Given the description of an element on the screen output the (x, y) to click on. 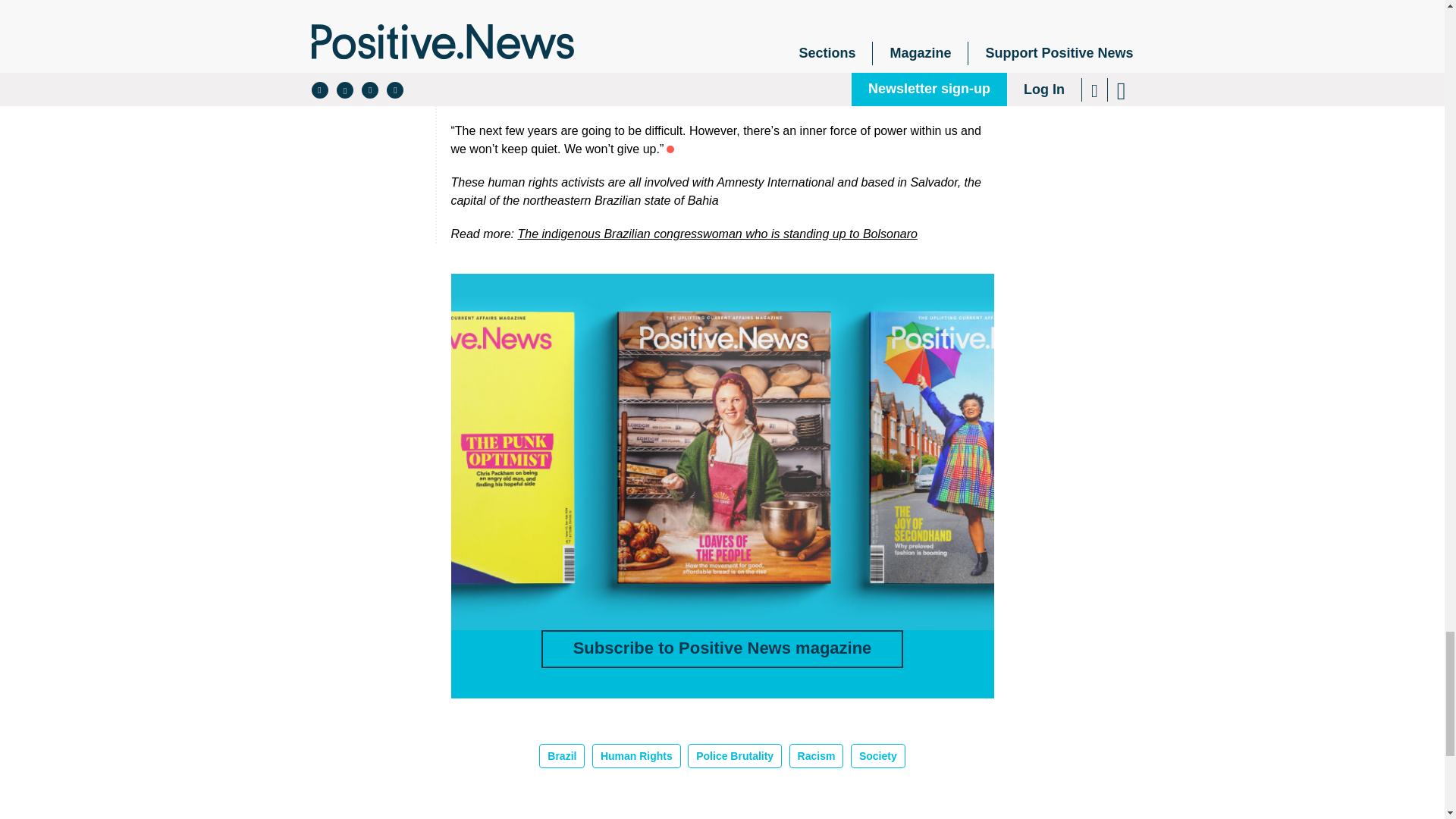
Racism (816, 755)
Brazil (561, 755)
Subscribe to Positive News magazine (722, 648)
Human Rights (636, 755)
Police Brutality (734, 755)
Society (877, 755)
